Given the description of an element on the screen output the (x, y) to click on. 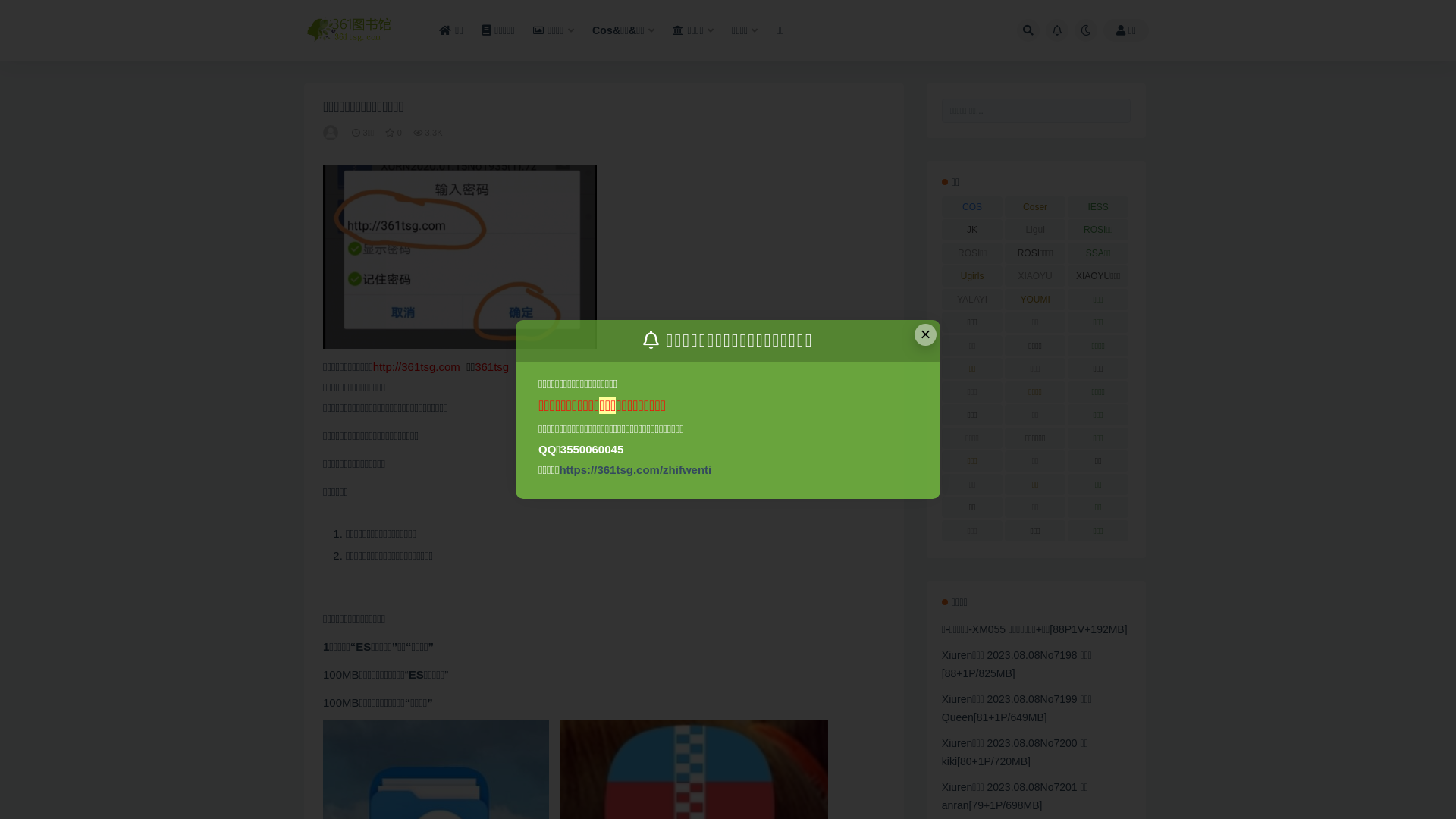
XIAOYU Element type: text (1035, 275)
Coser Element type: text (1035, 206)
IESS Element type: text (1098, 206)
YALAYI Element type: text (972, 299)
COS Element type: text (972, 206)
Ligui Element type: text (1035, 229)
YOUMI Element type: text (1035, 299)
evallon Element type: hover (331, 132)
https://361tsg.com/zhifwenti Element type: text (634, 469)
Ugirls Element type: text (972, 275)
JK Element type: text (972, 229)
